Given the description of an element on the screen output the (x, y) to click on. 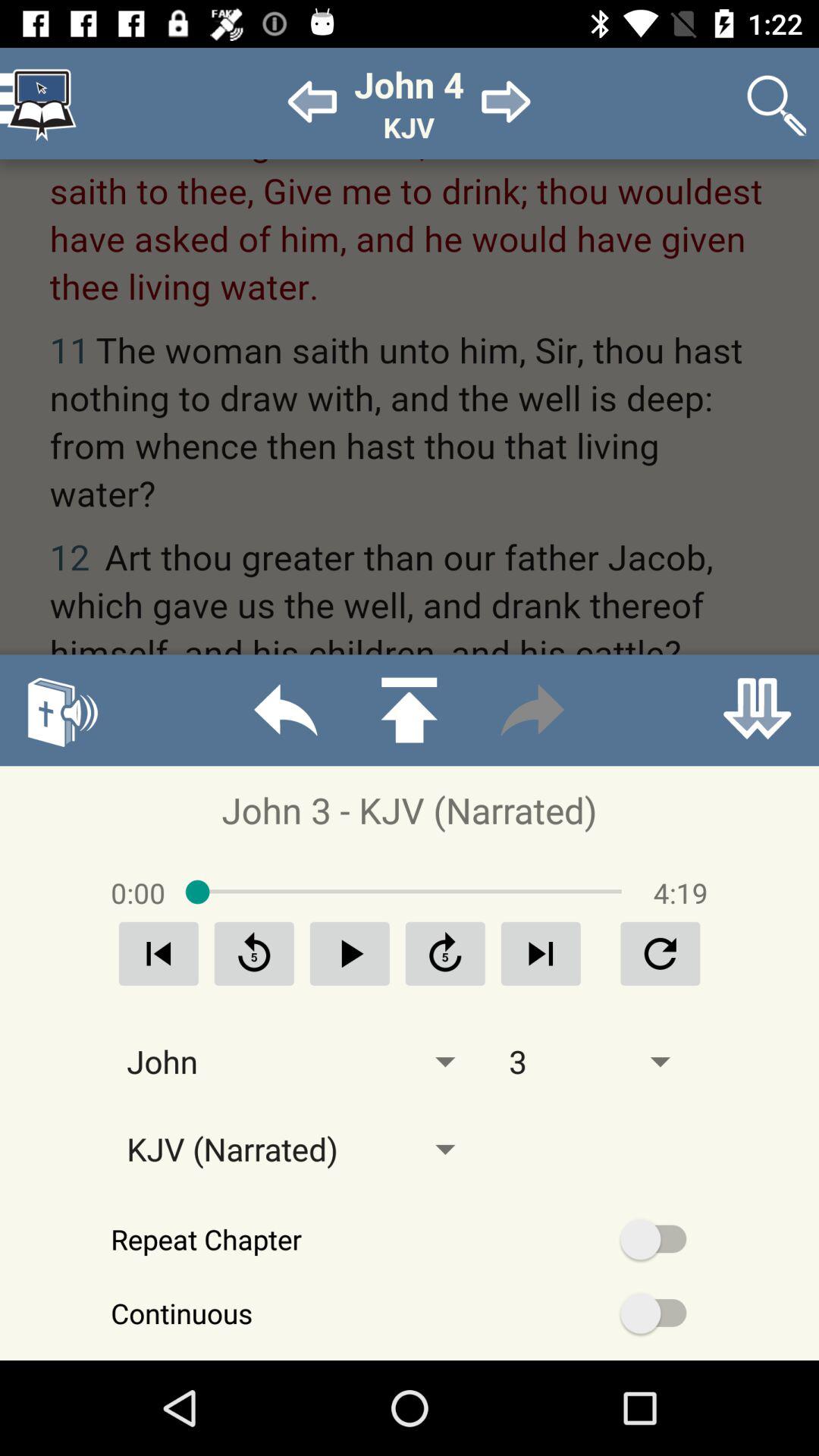
go back 5 seconds (254, 953)
